Given the description of an element on the screen output the (x, y) to click on. 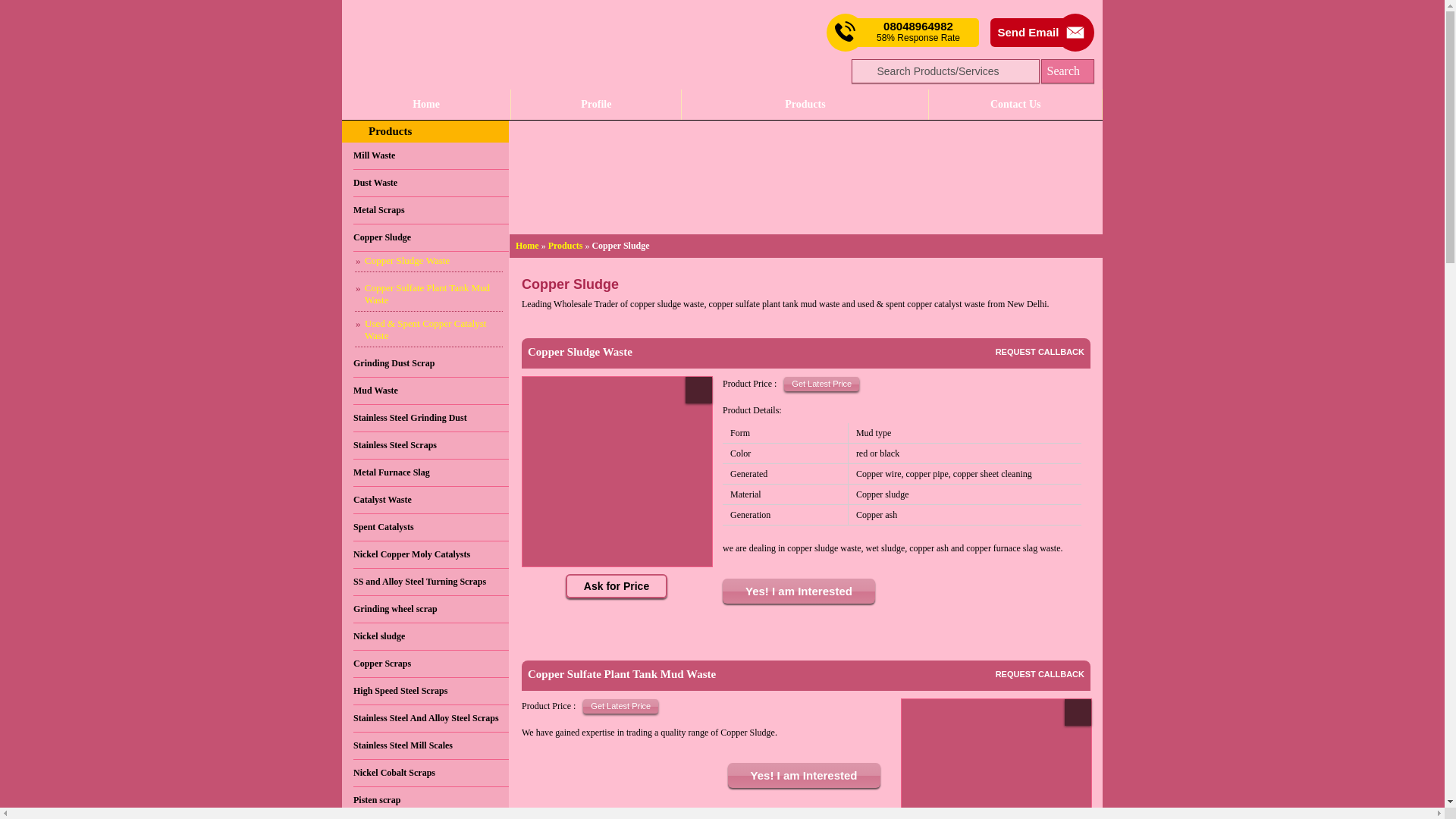
Send SMS Free (917, 32)
Products (565, 245)
Dust Waste (430, 183)
Home (426, 104)
Copper Sludge (430, 237)
Copper Sludge Waste (428, 261)
Profile (596, 104)
Mill Waste (430, 155)
Products (390, 131)
Home (526, 245)
